Given the description of an element on the screen output the (x, y) to click on. 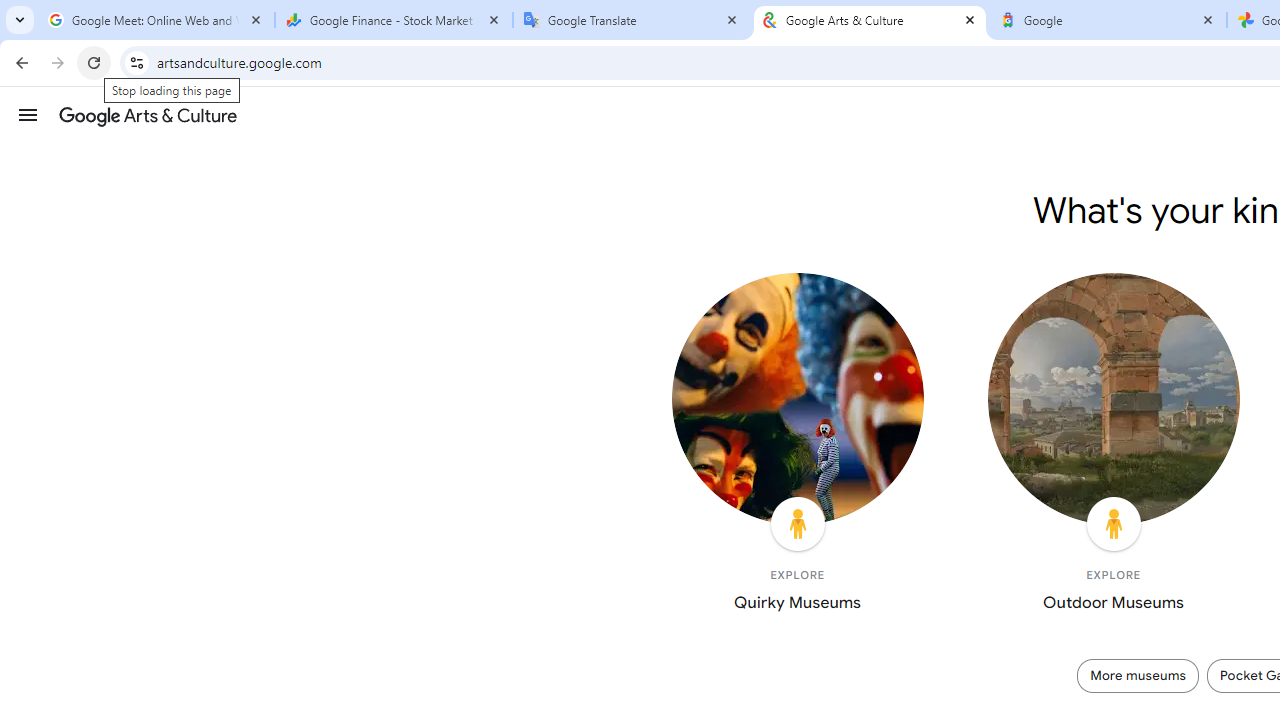
More museums (1138, 675)
Menu (27, 114)
EXPLORE Outdoor Museums (1113, 447)
Google Arts & Culture (870, 20)
Google Arts & Culture (148, 115)
EXPLORE Quirky Museums (797, 447)
